Given the description of an element on the screen output the (x, y) to click on. 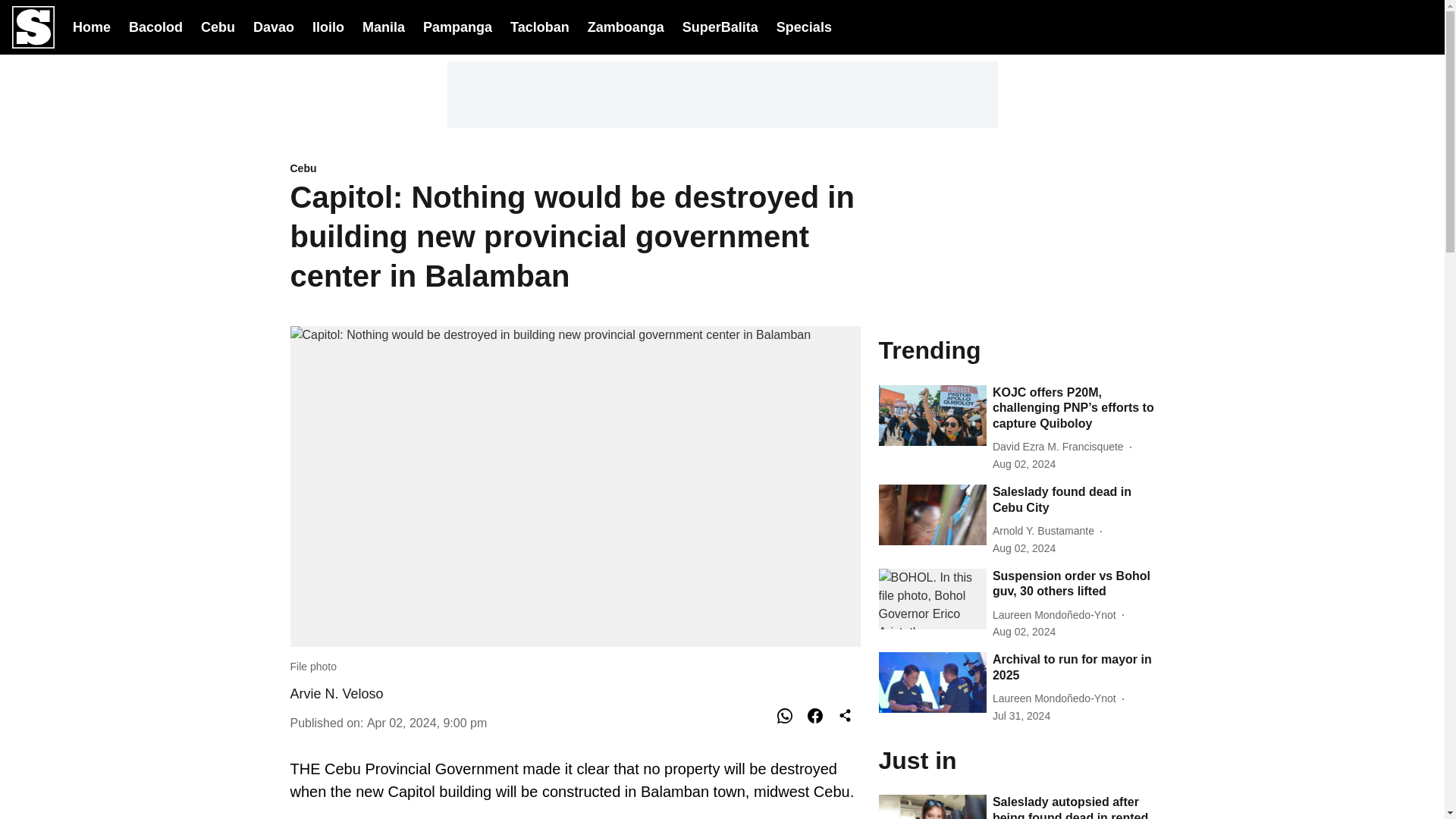
2024-08-01 17:00 (1023, 464)
Dark Mode (1382, 27)
Trending (1015, 349)
Arnold Y. Bustamante (1046, 530)
Bacolod (156, 26)
Zamboanga (625, 26)
Home (91, 26)
2024-07-31 10:56 (1020, 715)
2024-08-02 12:19 (1023, 631)
Tacloban (540, 26)
Saleslady found dead in Cebu City (1073, 500)
Archival to run for mayor in 2025 (1073, 667)
SuperBalita (720, 27)
Manila (383, 26)
